Given the description of an element on the screen output the (x, y) to click on. 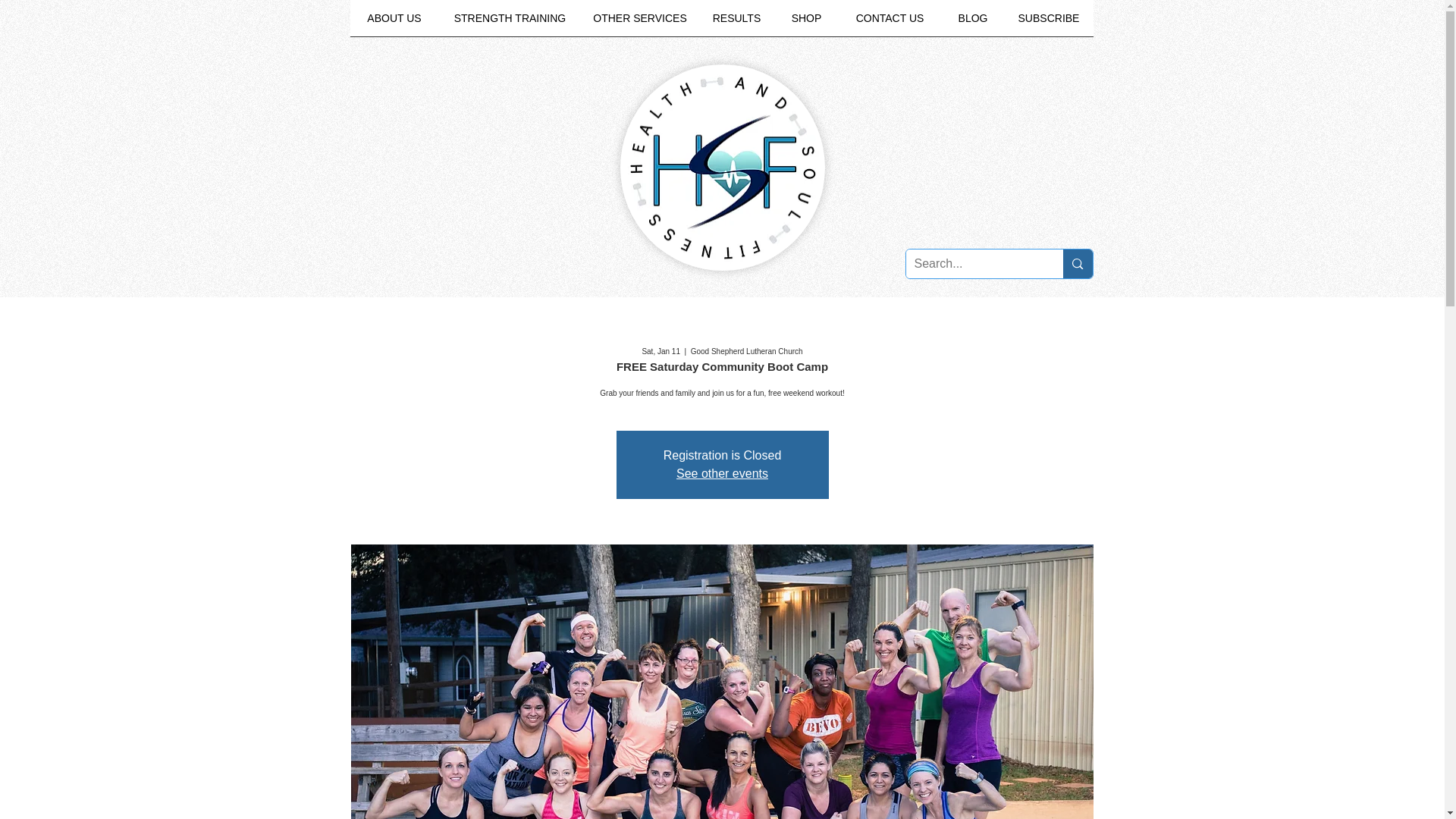
ABOUT US (394, 22)
RESULTS (736, 22)
STRENGTH TRAINING (509, 22)
SUBSCRIBE (1048, 22)
BLOG (973, 22)
See other events (722, 472)
CONTACT US (890, 22)
SHOP (806, 22)
